Given the description of an element on the screen output the (x, y) to click on. 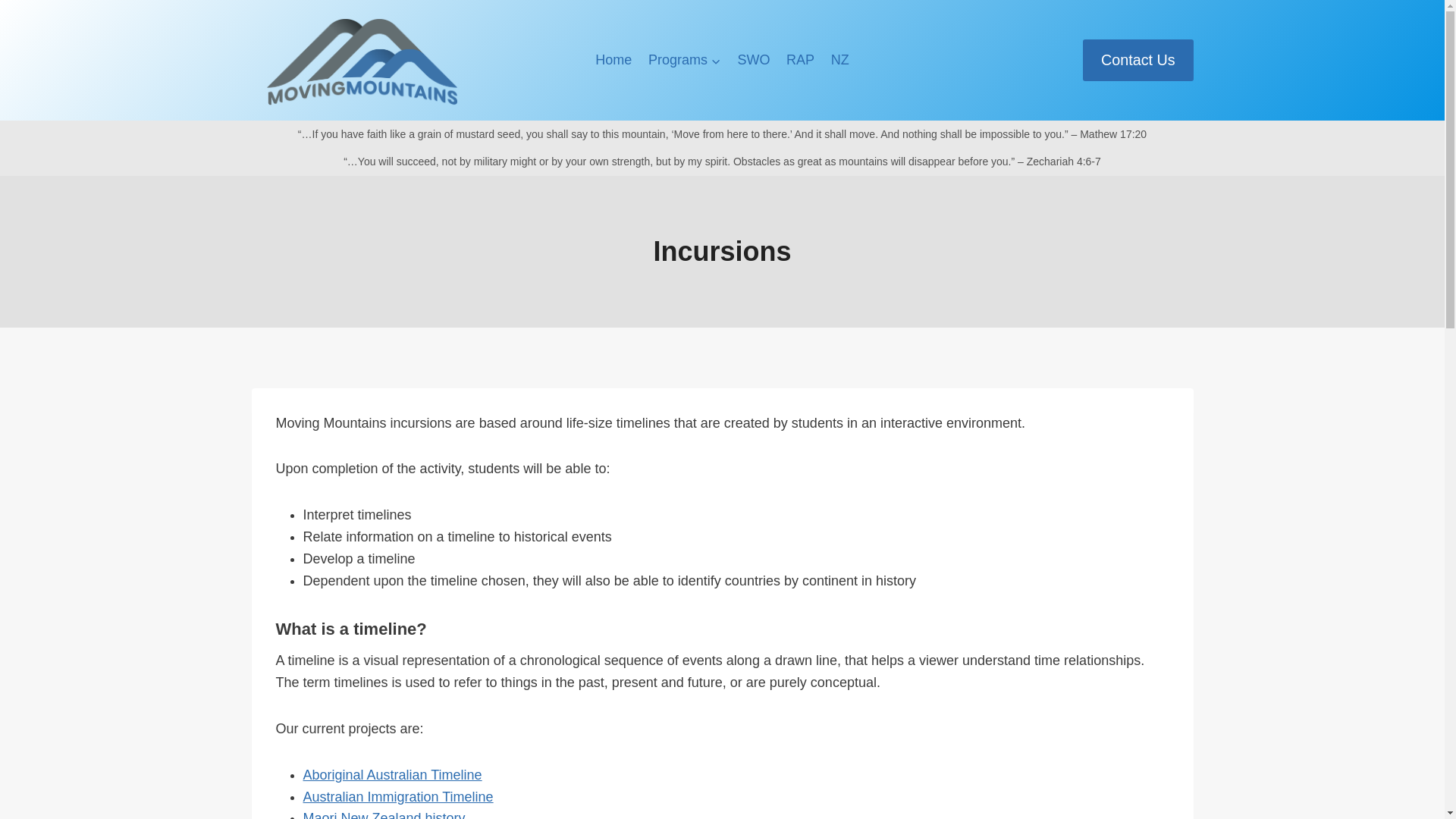
Home (613, 59)
Maori New Zealand history (383, 814)
NZ (839, 59)
Programs (684, 59)
Contact Us (1137, 60)
SWO (753, 59)
RAP (799, 59)
Australian Immigration Timeline (397, 796)
Aboriginal Australian Timeline (391, 774)
